Given the description of an element on the screen output the (x, y) to click on. 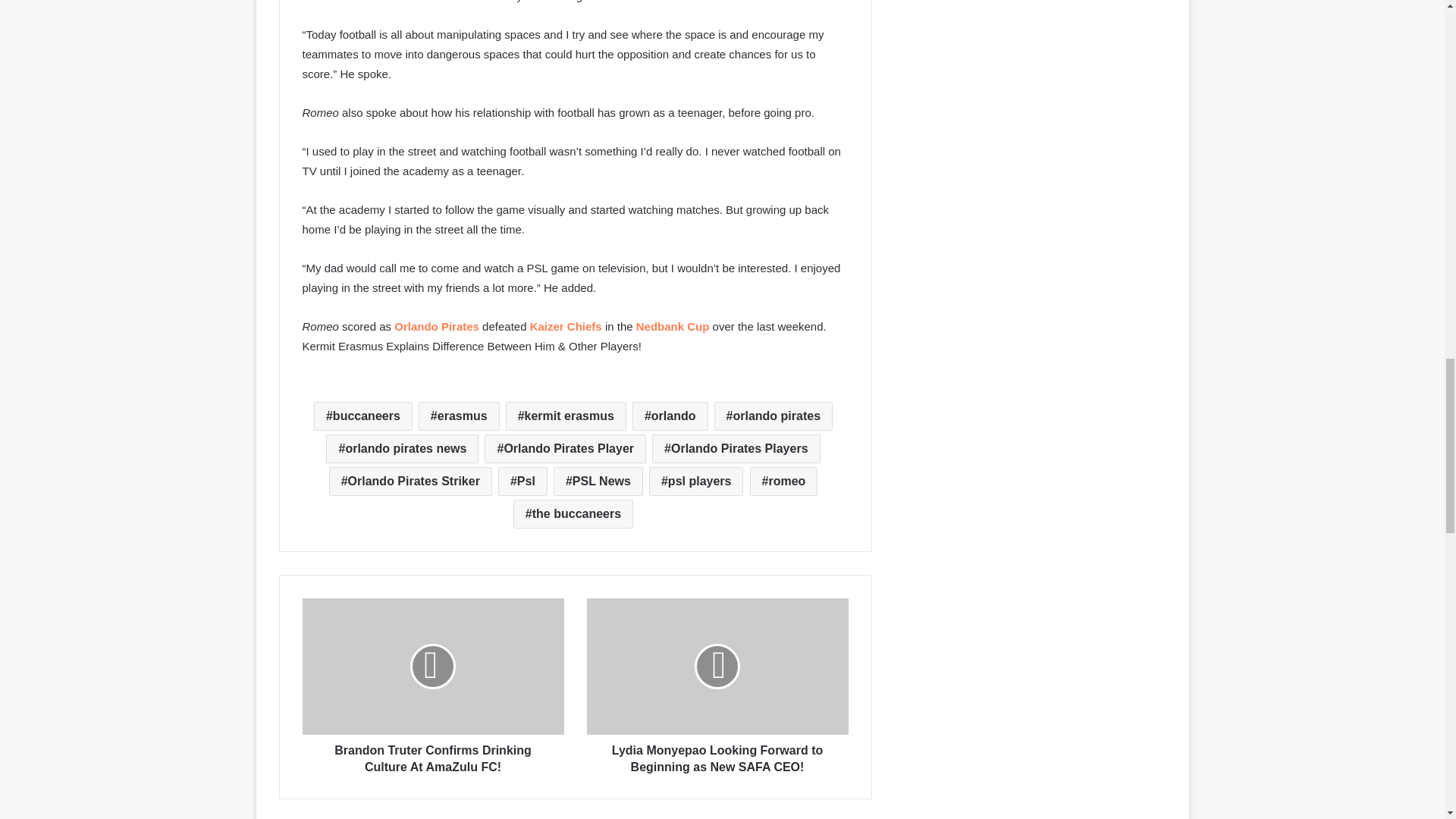
buccaneers (363, 416)
erasmus (459, 416)
orlando (669, 416)
Kaizer Chiefs (565, 326)
Orlando Pirates (436, 326)
kermit erasmus (565, 416)
Nedbank Cup (673, 326)
